Given the description of an element on the screen output the (x, y) to click on. 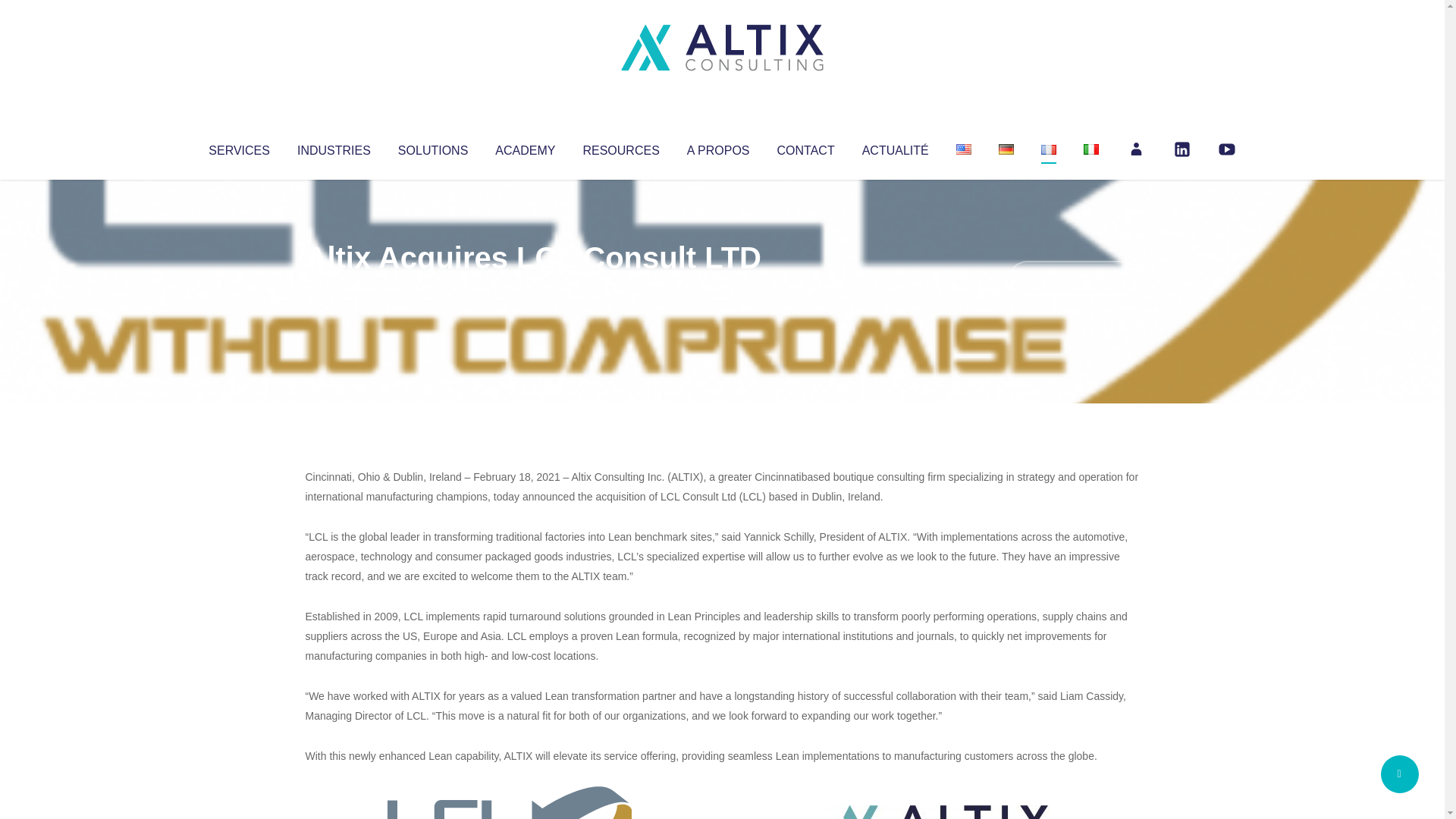
ACADEMY (524, 146)
RESOURCES (620, 146)
Altix (333, 287)
SOLUTIONS (432, 146)
SERVICES (238, 146)
A PROPOS (718, 146)
Articles par Altix (333, 287)
No Comments (1073, 278)
INDUSTRIES (334, 146)
Uncategorized (530, 287)
